Given the description of an element on the screen output the (x, y) to click on. 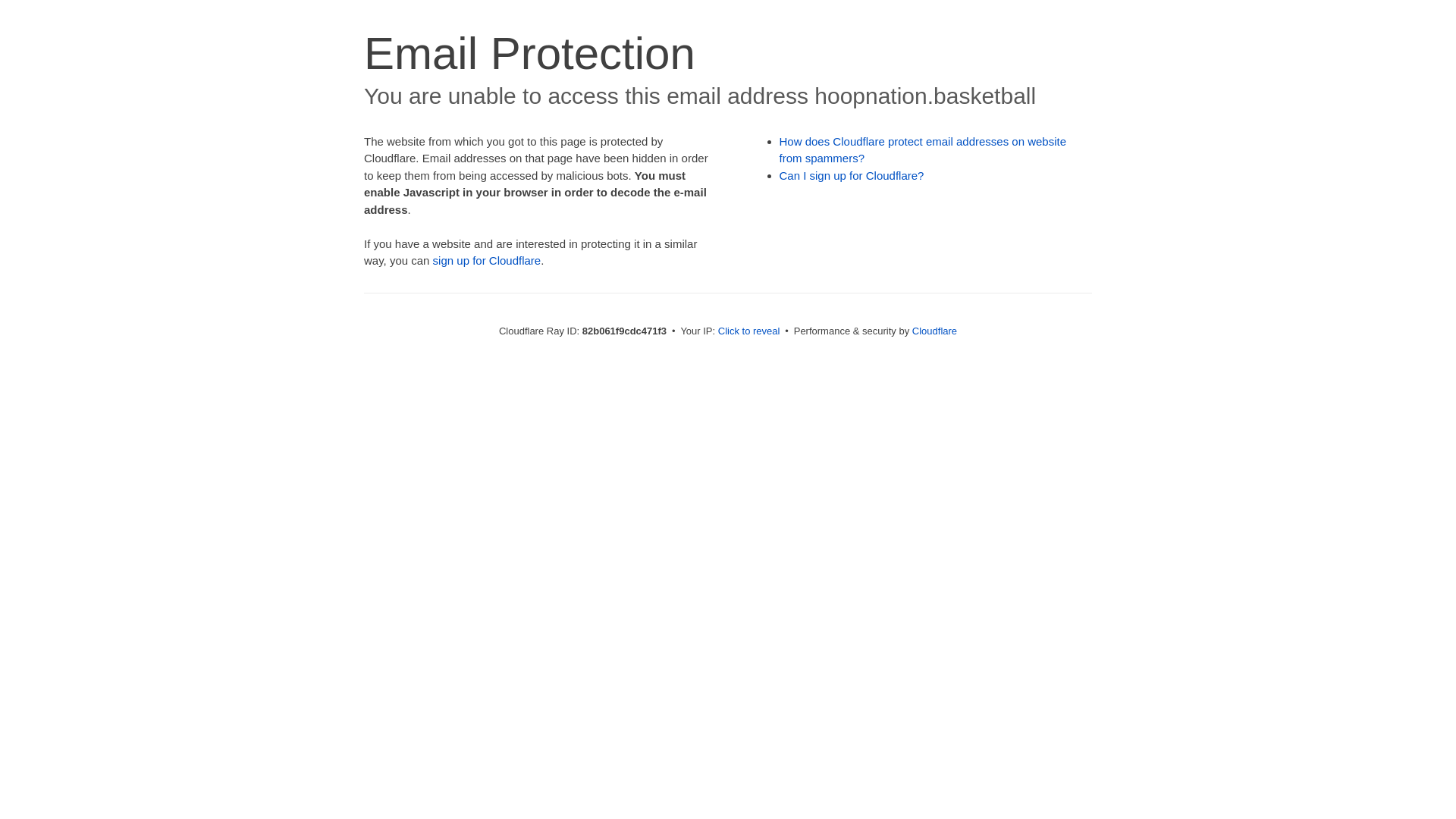
Click to reveal Element type: text (749, 330)
Can I sign up for Cloudflare? Element type: text (851, 175)
Cloudflare Element type: text (934, 330)
sign up for Cloudflare Element type: text (487, 260)
